Given the description of an element on the screen output the (x, y) to click on. 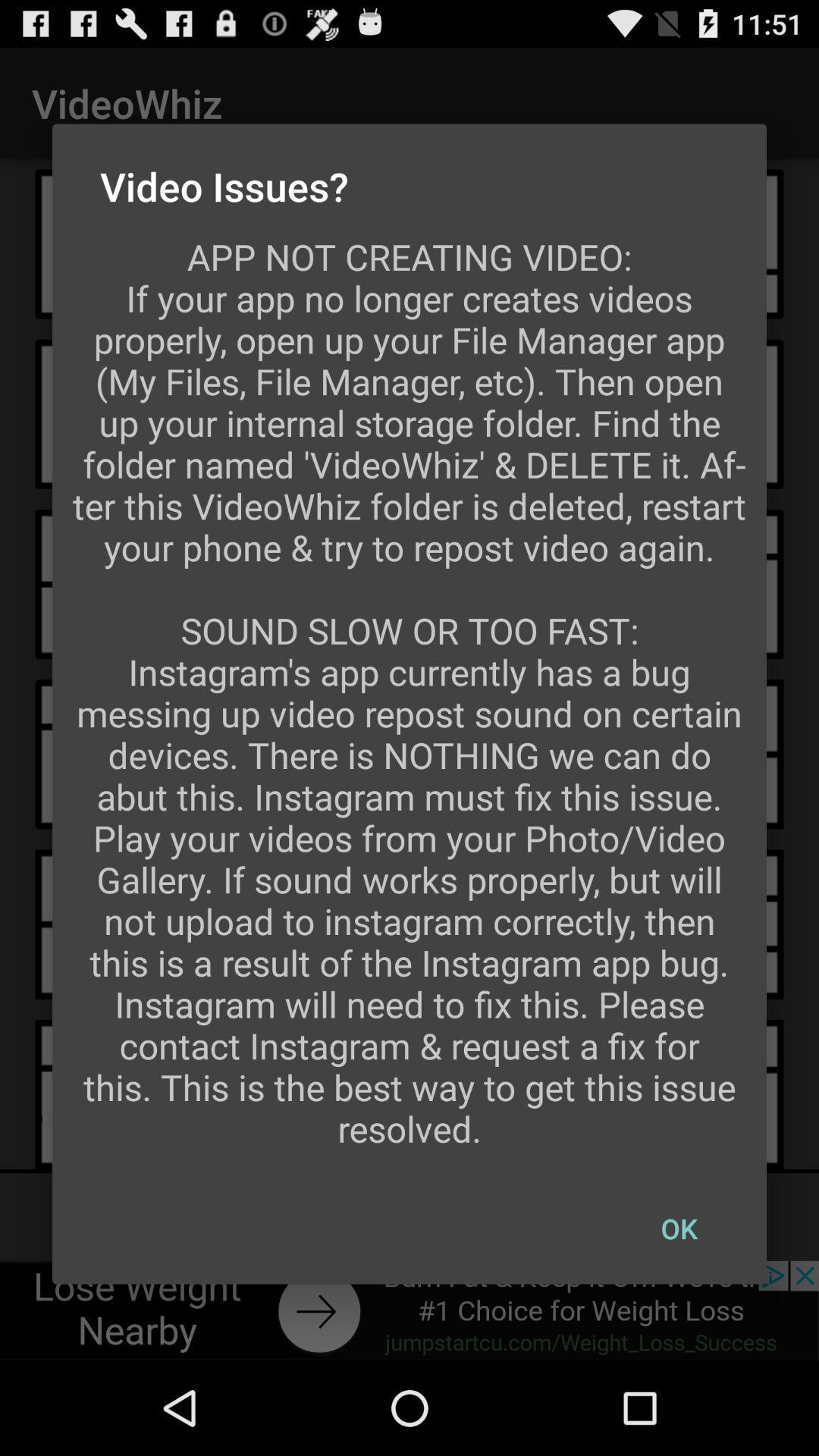
open the item below the app not creating (678, 1228)
